Given the description of an element on the screen output the (x, y) to click on. 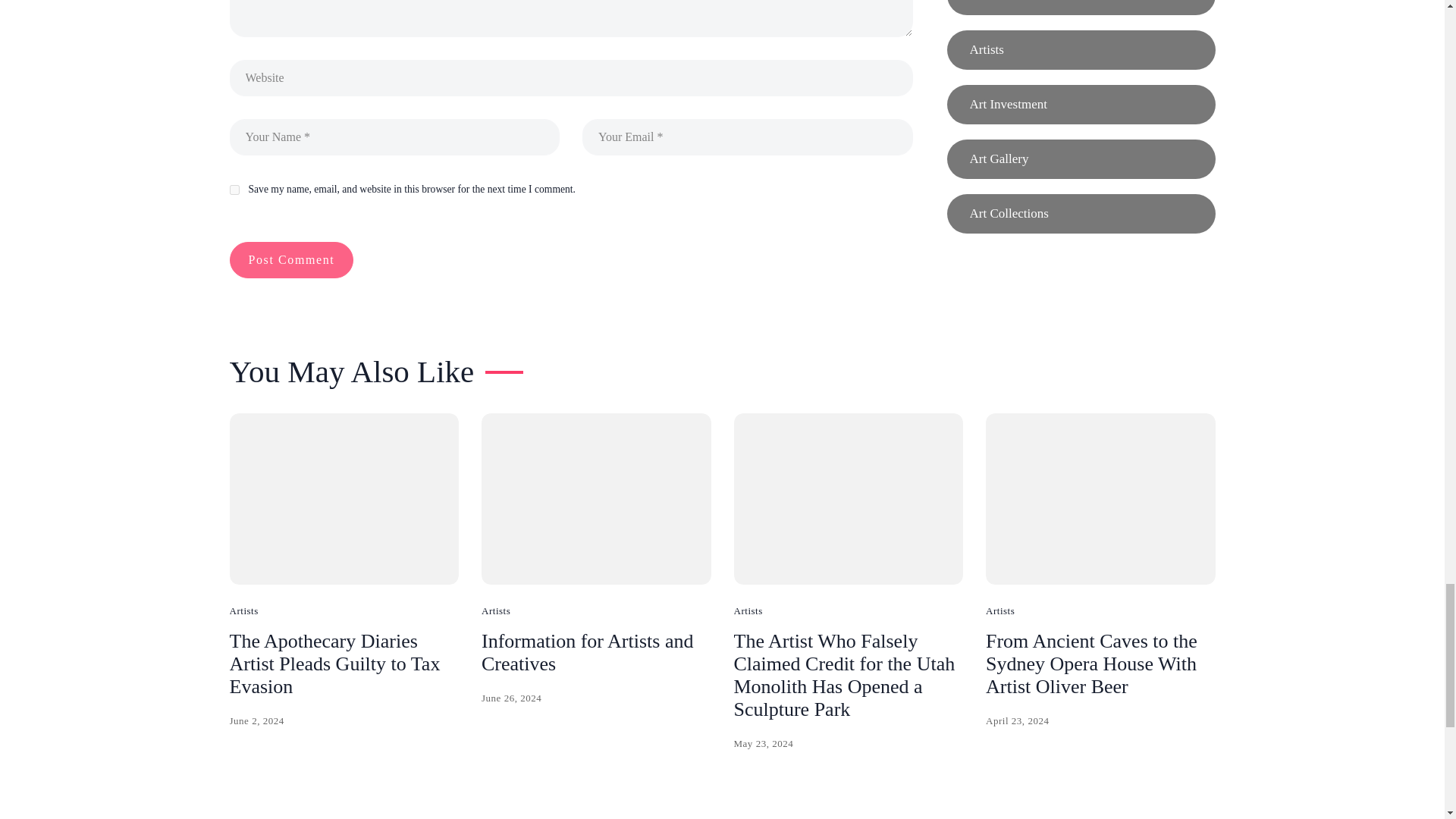
Post Comment (290, 259)
Post Comment (290, 259)
yes (233, 189)
